Given the description of an element on the screen output the (x, y) to click on. 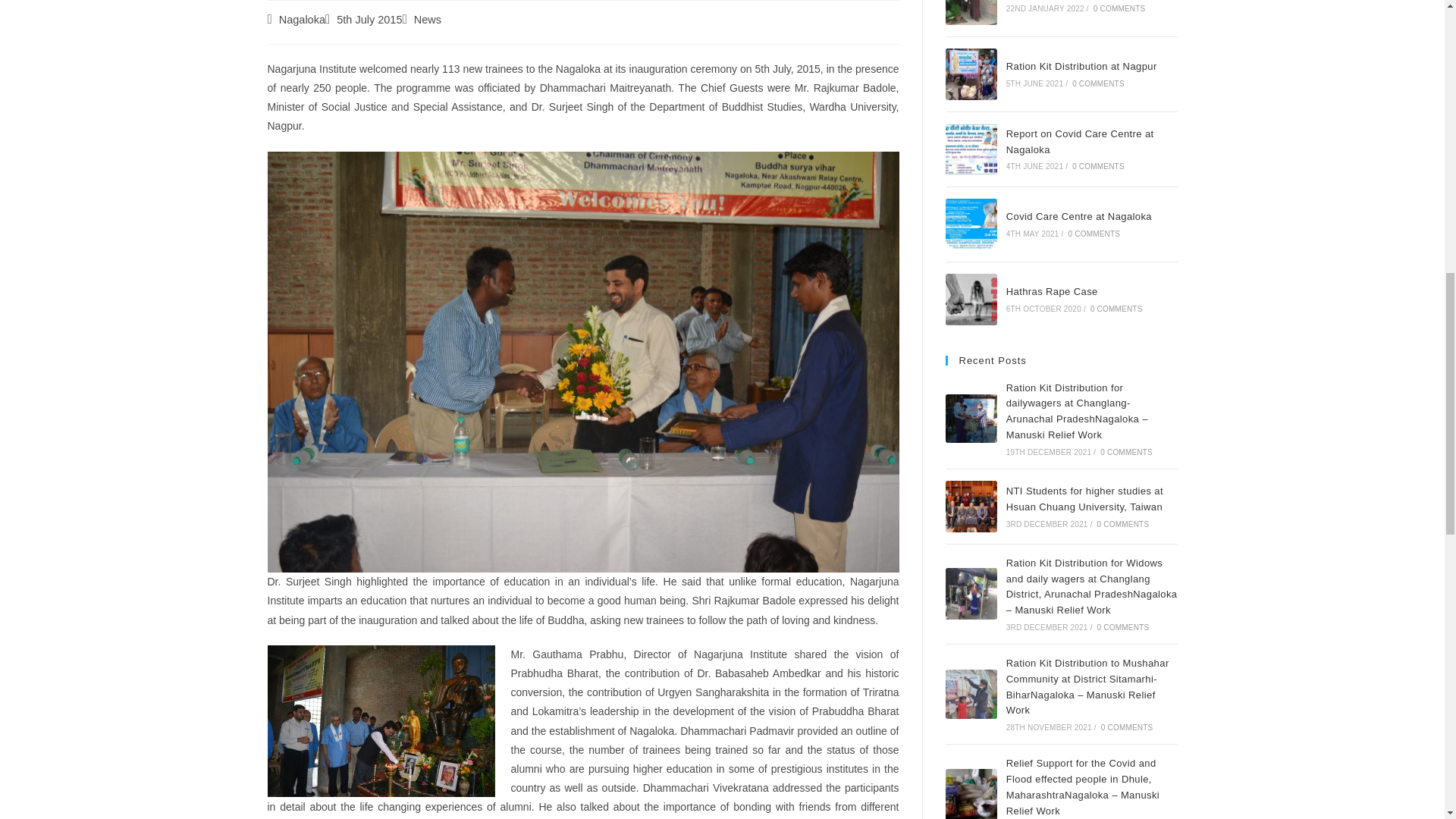
Report on Covid Care Centre at Nagaloka (969, 149)
Hathras Rape Case (969, 299)
Posts by Nagaloka (301, 19)
The Passing on of Thich Nhat Hanh (969, 12)
Ration Kit Distribution at Nagpur (969, 73)
Covid Care Centre at Nagaloka (969, 224)
